Given the description of an element on the screen output the (x, y) to click on. 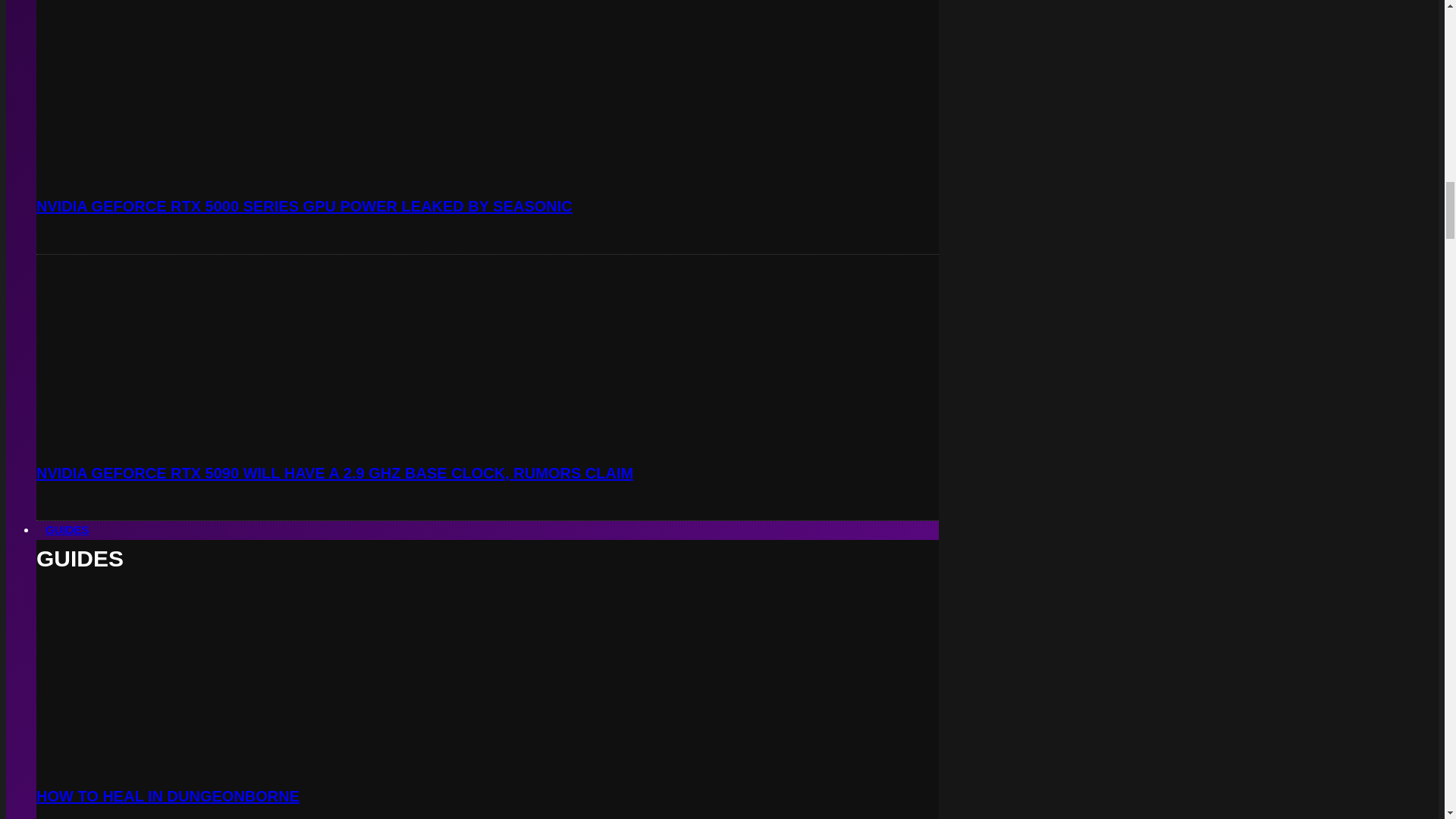
NVIDIA GEFORCE RTX 5000 SERIES GPU POWER LEAKED BY SEASONIC (304, 206)
